Given the description of an element on the screen output the (x, y) to click on. 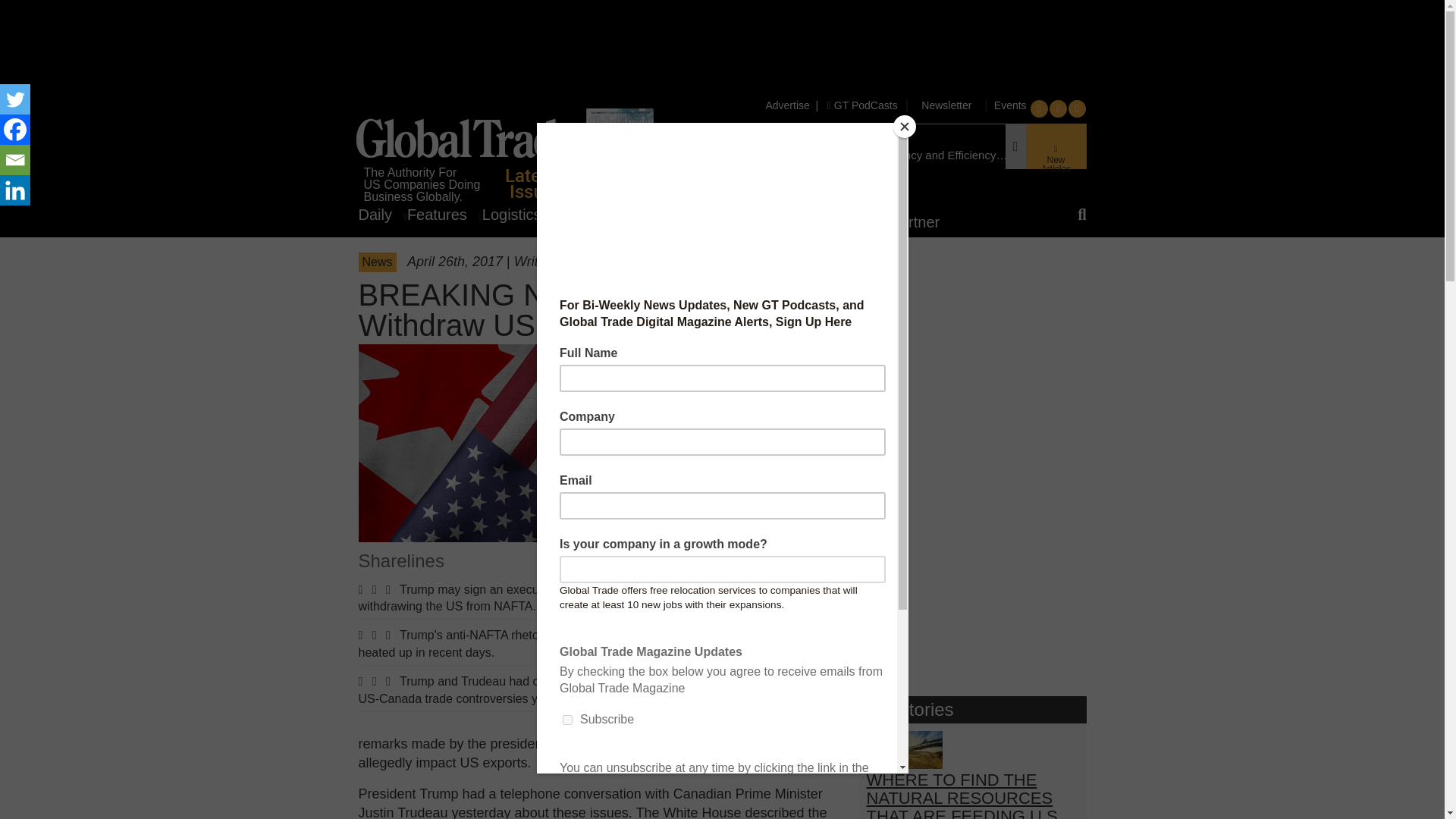
Email (15, 159)
Newsletter (945, 105)
  Events  (1008, 105)
Hide (5, 219)
Twitter (15, 99)
GT PodCasts (862, 105)
Daily (382, 214)
Facebook (15, 129)
Linkedin (15, 190)
